Given the description of an element on the screen output the (x, y) to click on. 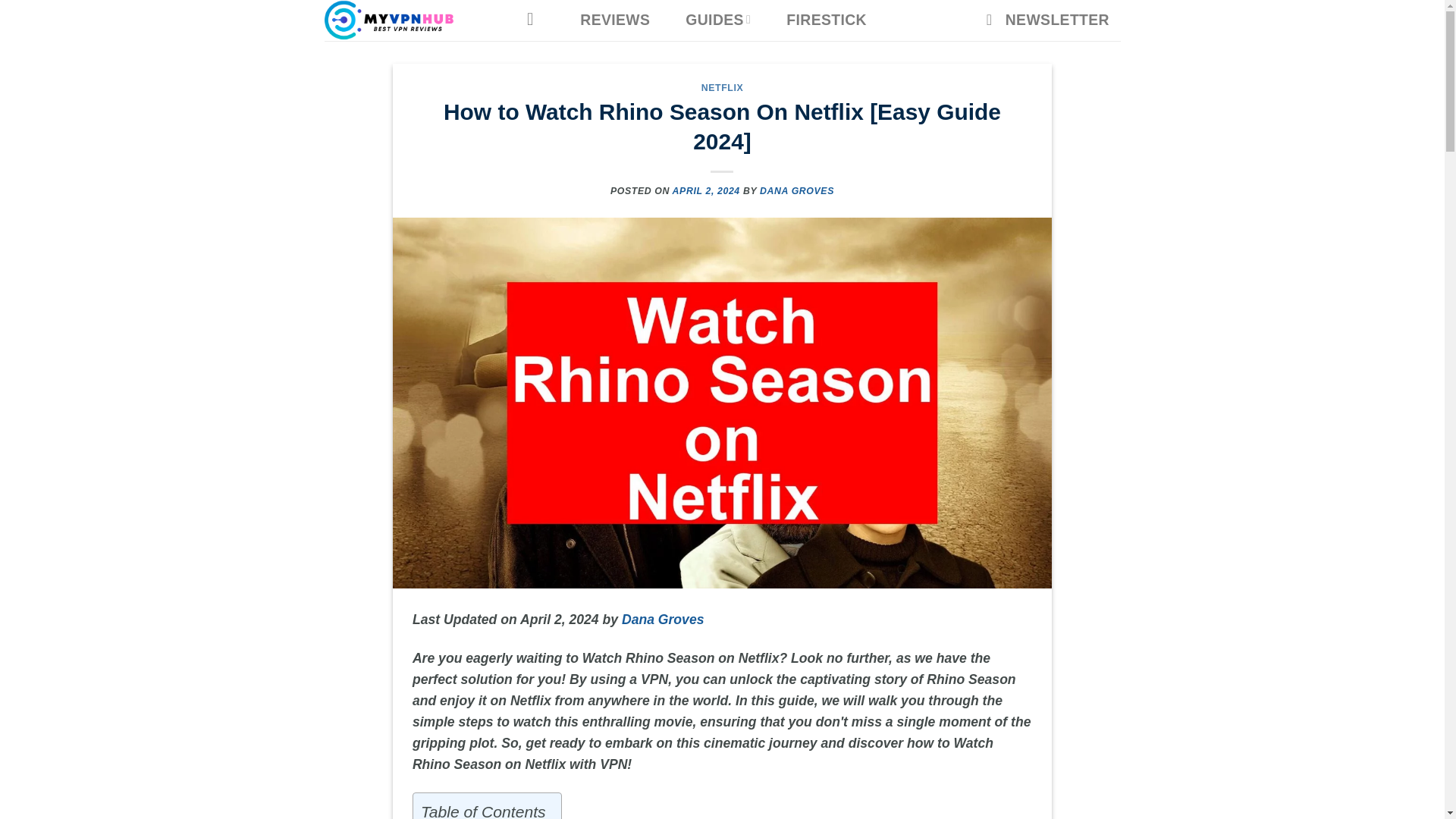
FIRESTICK (826, 19)
GUIDES (718, 19)
REVIEWS (615, 19)
Dana Groves (662, 619)
APRIL 2, 2024 (705, 190)
NETFLIX (722, 87)
My Vpn Hub - Best Vpn Reviews, Speed Tests and Comparisons (408, 20)
Sign up for Newsletter (1047, 19)
NEWSLETTER (1047, 19)
DANA GROVES (797, 190)
